Given the description of an element on the screen output the (x, y) to click on. 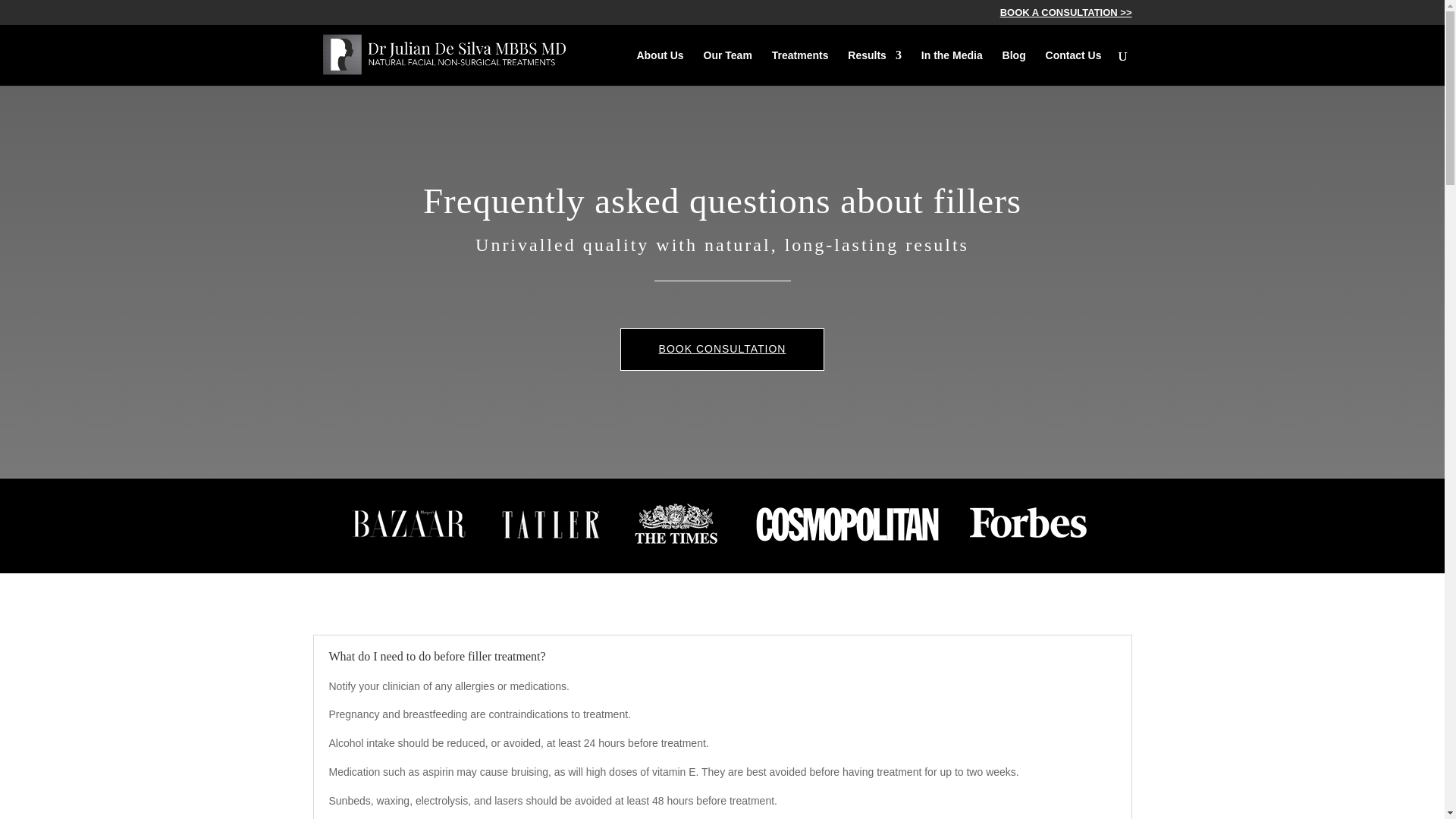
Contact Us (1073, 67)
About Us (659, 67)
In the Media (951, 67)
Our Team (727, 67)
Blog (1014, 67)
Results (874, 67)
Treatments (799, 67)
logos (722, 525)
BOOK CONSULTATION (722, 349)
